Given the description of an element on the screen output the (x, y) to click on. 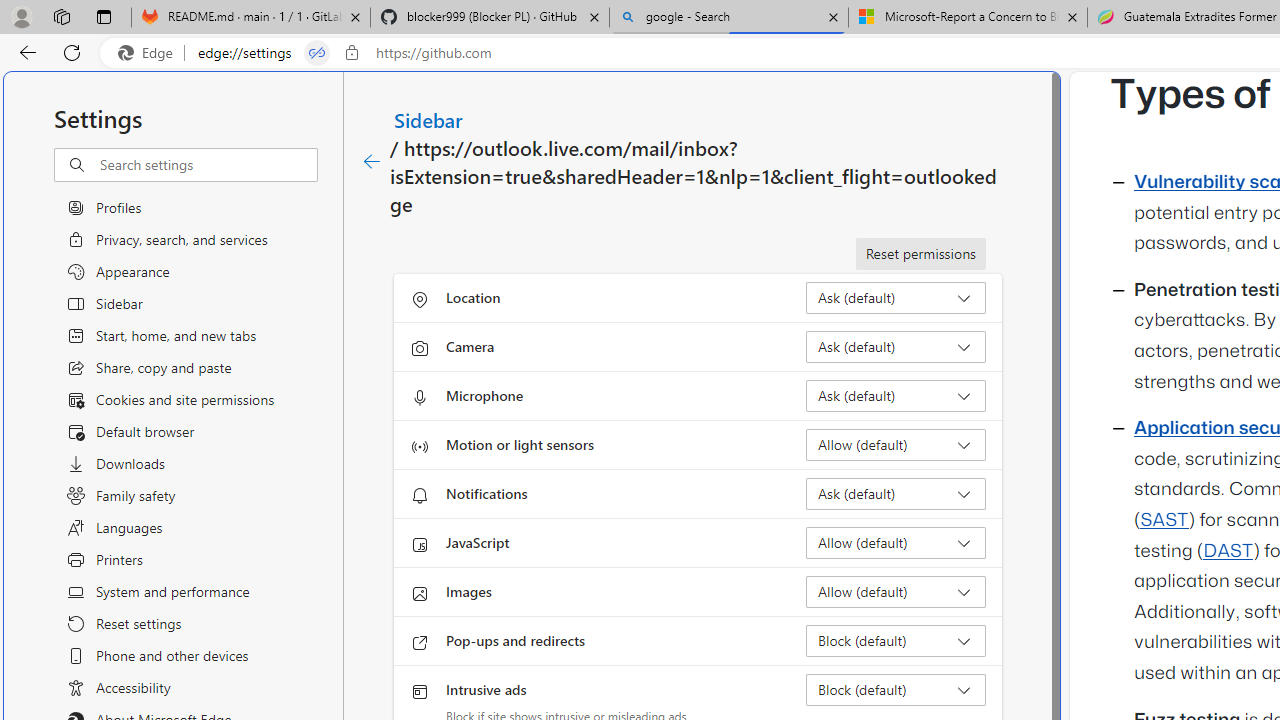
Camera Ask (default) (895, 346)
SAST (1164, 520)
Go back to Sidebar page. (372, 162)
JavaScript Allow (default) (895, 542)
Edge (150, 53)
Images Allow (default) (895, 591)
Search settings (207, 165)
Microsoft-Report a Concern to Bing (967, 17)
google - Search (729, 17)
Tabs in split screen (317, 53)
Motion or light sensors Allow (default) (895, 444)
Microphone Ask (default) (895, 395)
